Given the description of an element on the screen output the (x, y) to click on. 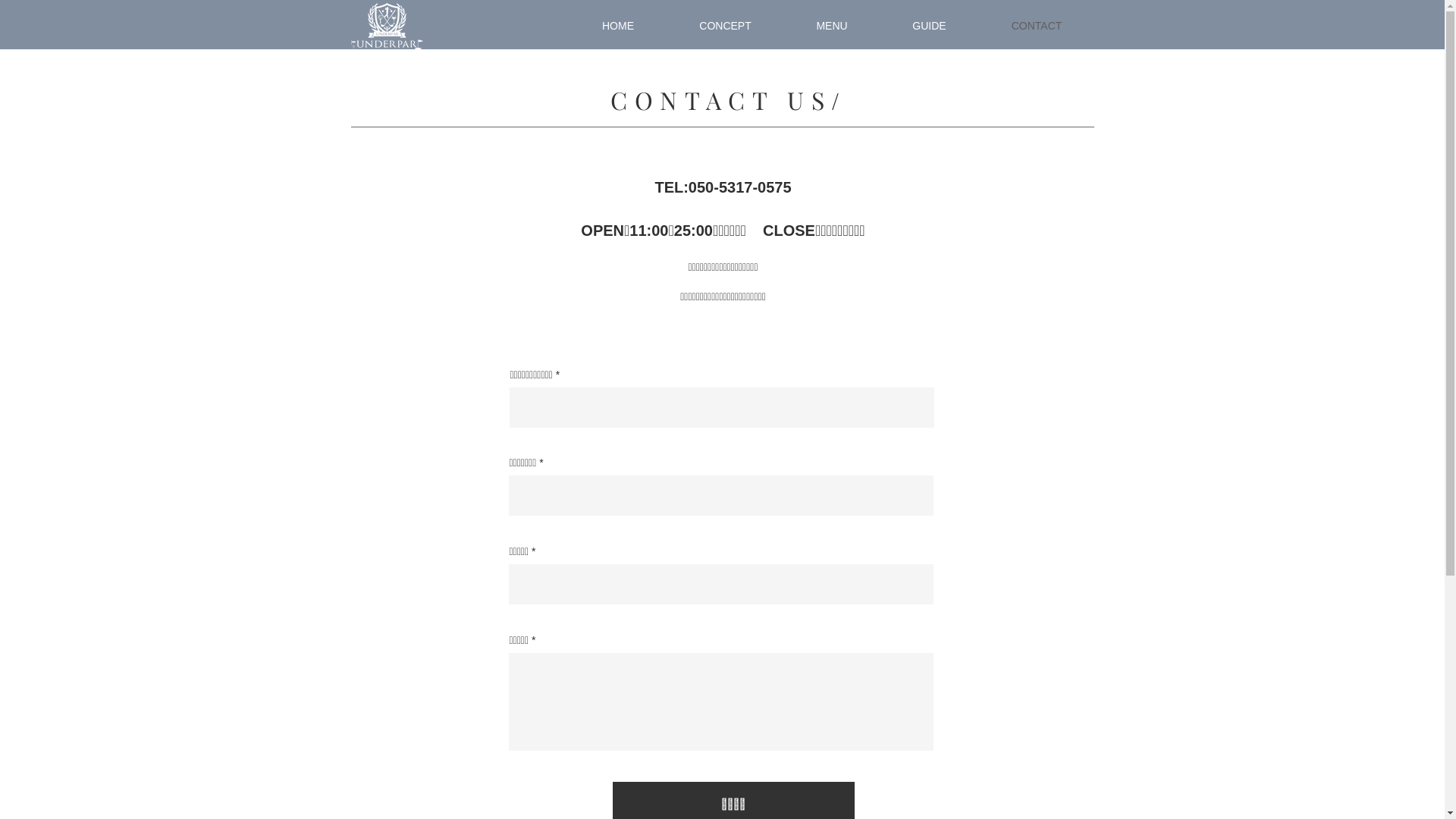
CONTACT Element type: text (1036, 25)
CONCEPT Element type: text (725, 25)
MENU Element type: text (832, 25)
HOME Element type: text (617, 25)
GUIDE Element type: text (928, 25)
